Given the description of an element on the screen output the (x, y) to click on. 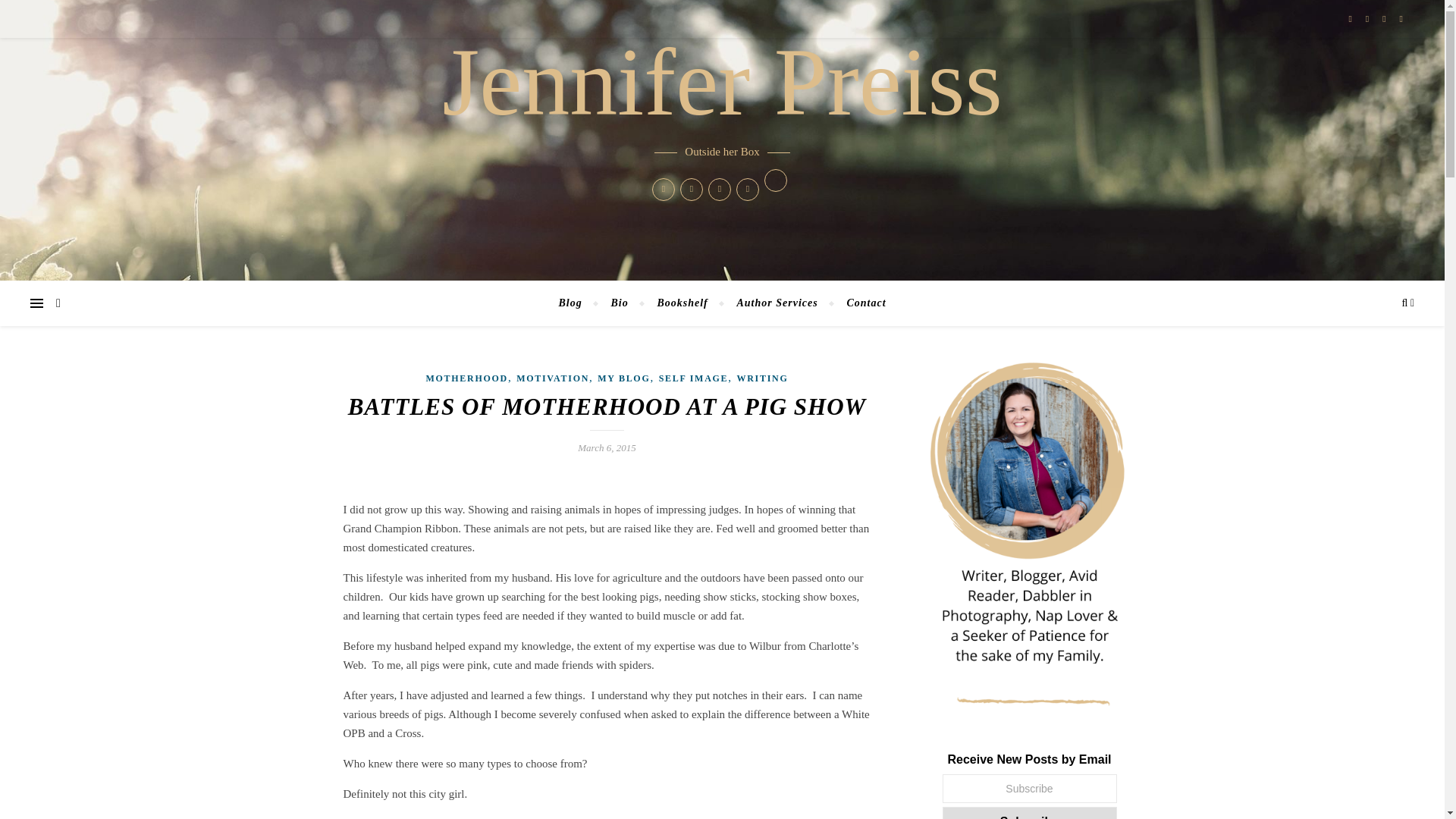
SELF IMAGE (694, 378)
Contact (858, 302)
Subscribe (1029, 812)
Bio (618, 302)
Author Services (776, 302)
Jennifer Preiss (721, 82)
MY BLOG (622, 378)
MOTIVATION (552, 378)
Bookshelf (681, 302)
WRITING (762, 378)
